Given the description of an element on the screen output the (x, y) to click on. 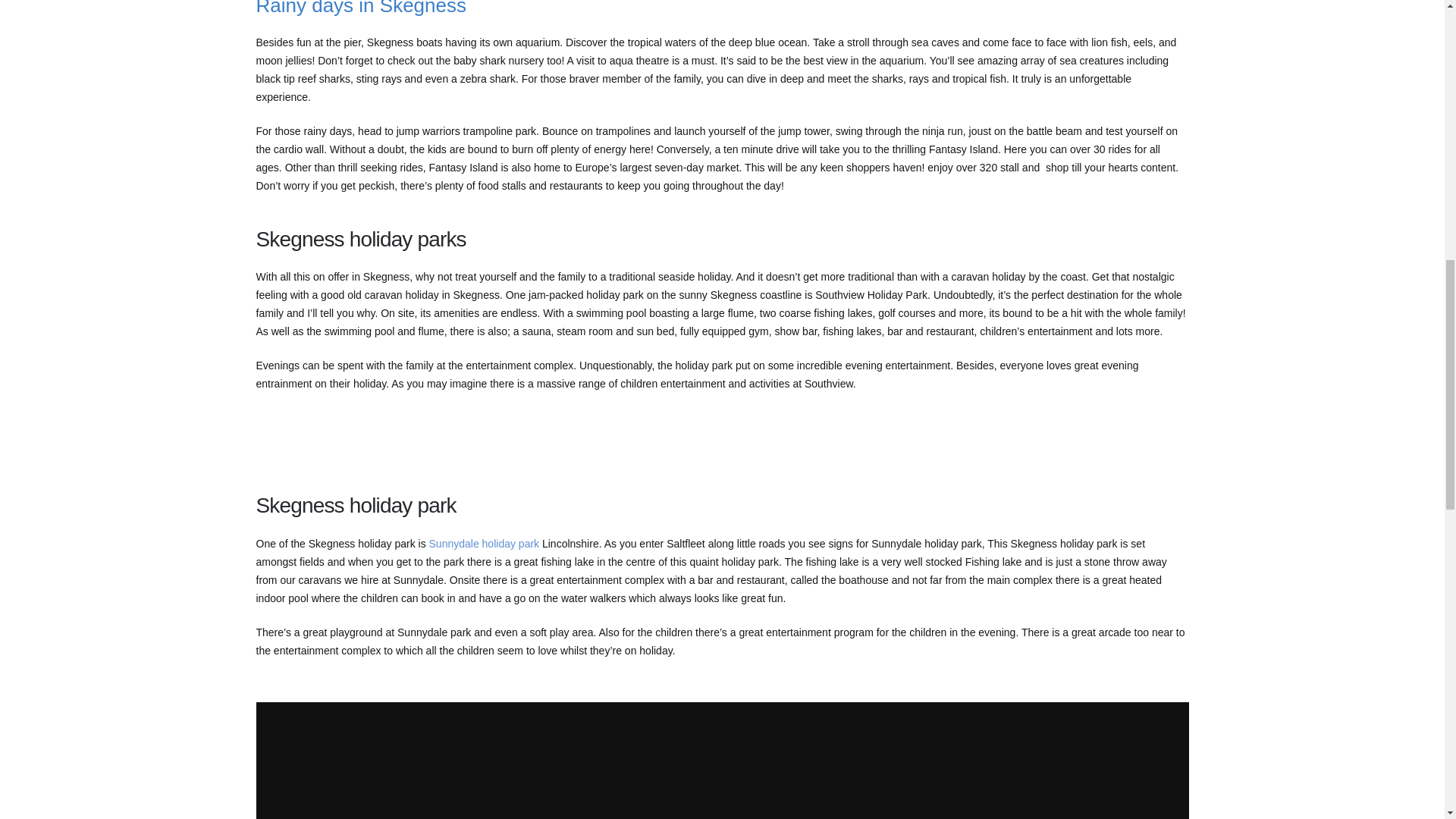
Sunnydale holiday park (484, 543)
Youtube video player (722, 760)
